Given the description of an element on the screen output the (x, y) to click on. 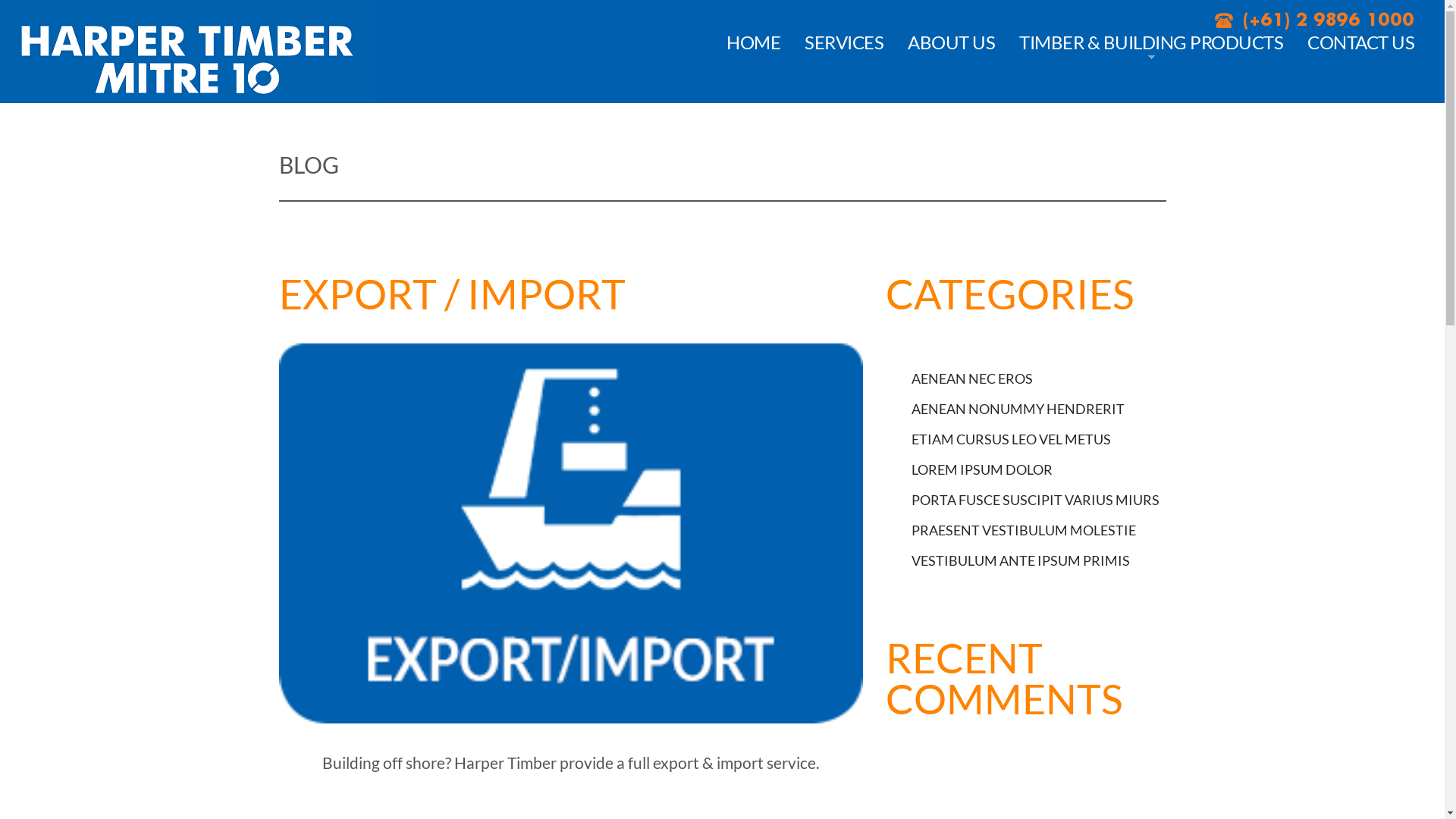
EXPORT / IMPORT Element type: text (452, 293)
LOREM IPSUM DOLOR Element type: text (981, 469)
ABOUT US Element type: text (950, 41)
PRAESENT VESTIBULUM MOLESTIE Element type: text (1023, 529)
PORTA FUSCE SUSCIPIT VARIUS MIURS Element type: text (1035, 499)
CONTACT US Element type: text (1360, 41)
SERVICES Element type: text (843, 41)
ETIAM CURSUS LEO VEL METUS Element type: text (1010, 438)
Export / Import Element type: hover (570, 532)
AENEAN NEC EROS Element type: text (971, 378)
VESTIBULUM ANTE IPSUM PRIMIS Element type: text (1020, 560)
AENEAN NONUMMY HENDRERIT Element type: text (1017, 408)
HOME Element type: text (753, 41)
